Given the description of an element on the screen output the (x, y) to click on. 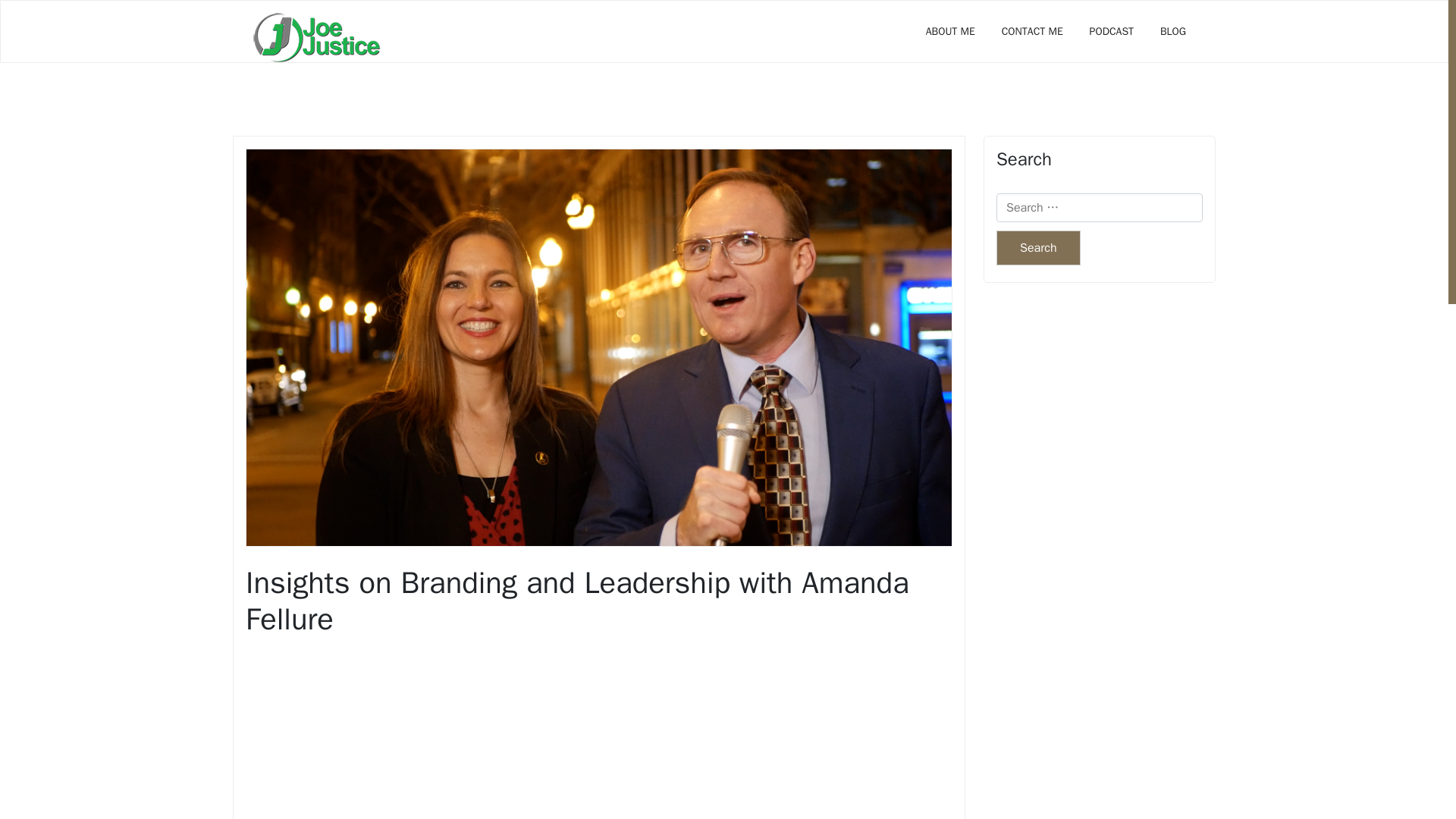
Search (1037, 247)
BLOG (1172, 31)
ABOUT ME (950, 31)
Search (1037, 247)
Search (1037, 247)
PODCAST (1111, 31)
CONTACT ME (1032, 31)
